Given the description of an element on the screen output the (x, y) to click on. 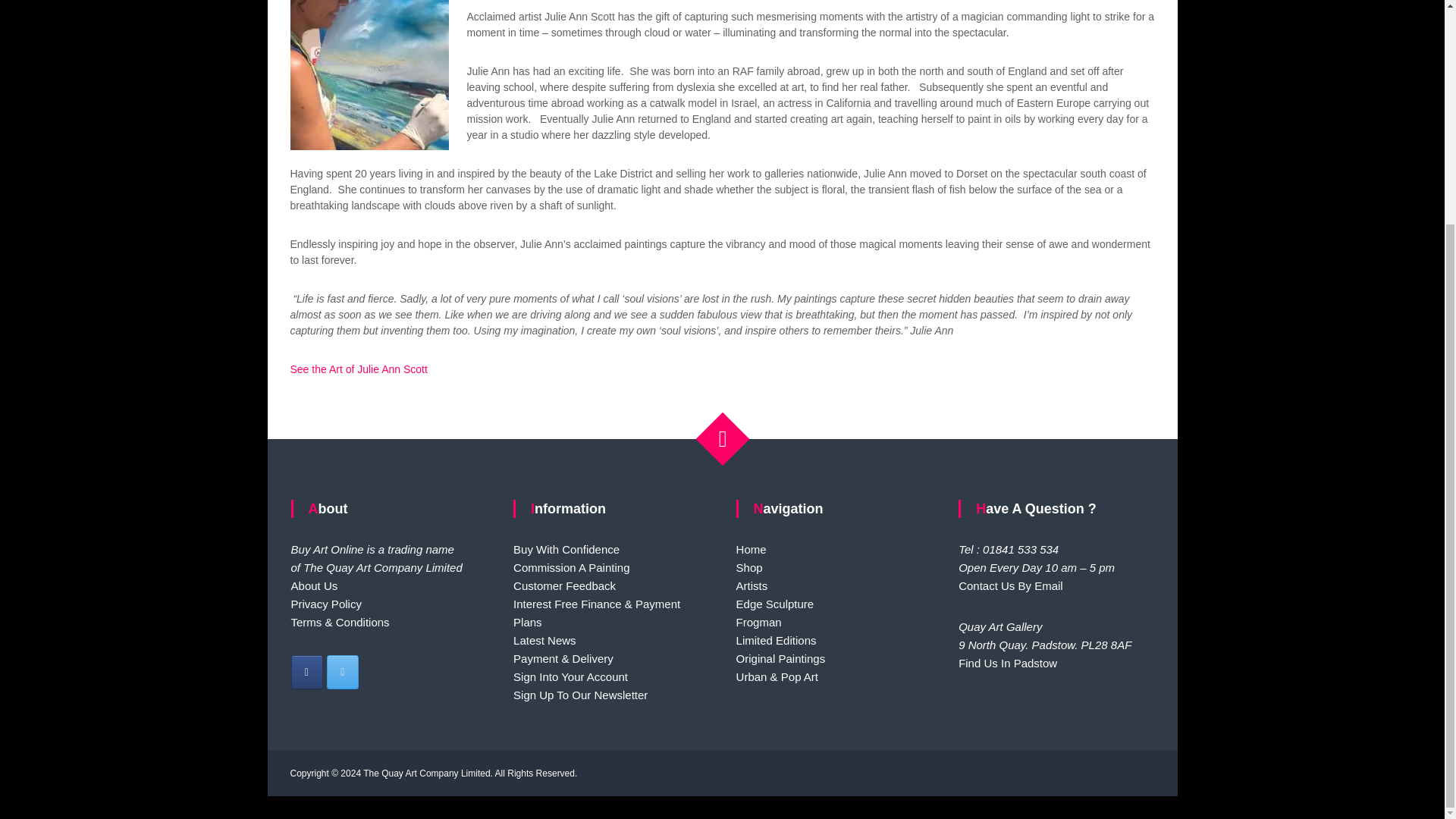
About Us (314, 585)
Customer Feedback (564, 585)
Home (751, 549)
Privacy Policy (326, 603)
Buy Art Online on Facebook (307, 672)
Sign Up To Our Newsletter (580, 694)
Sign Into Your Account (570, 676)
Artists (752, 585)
Limited Editions (776, 640)
Frogman (758, 621)
